Given the description of an element on the screen output the (x, y) to click on. 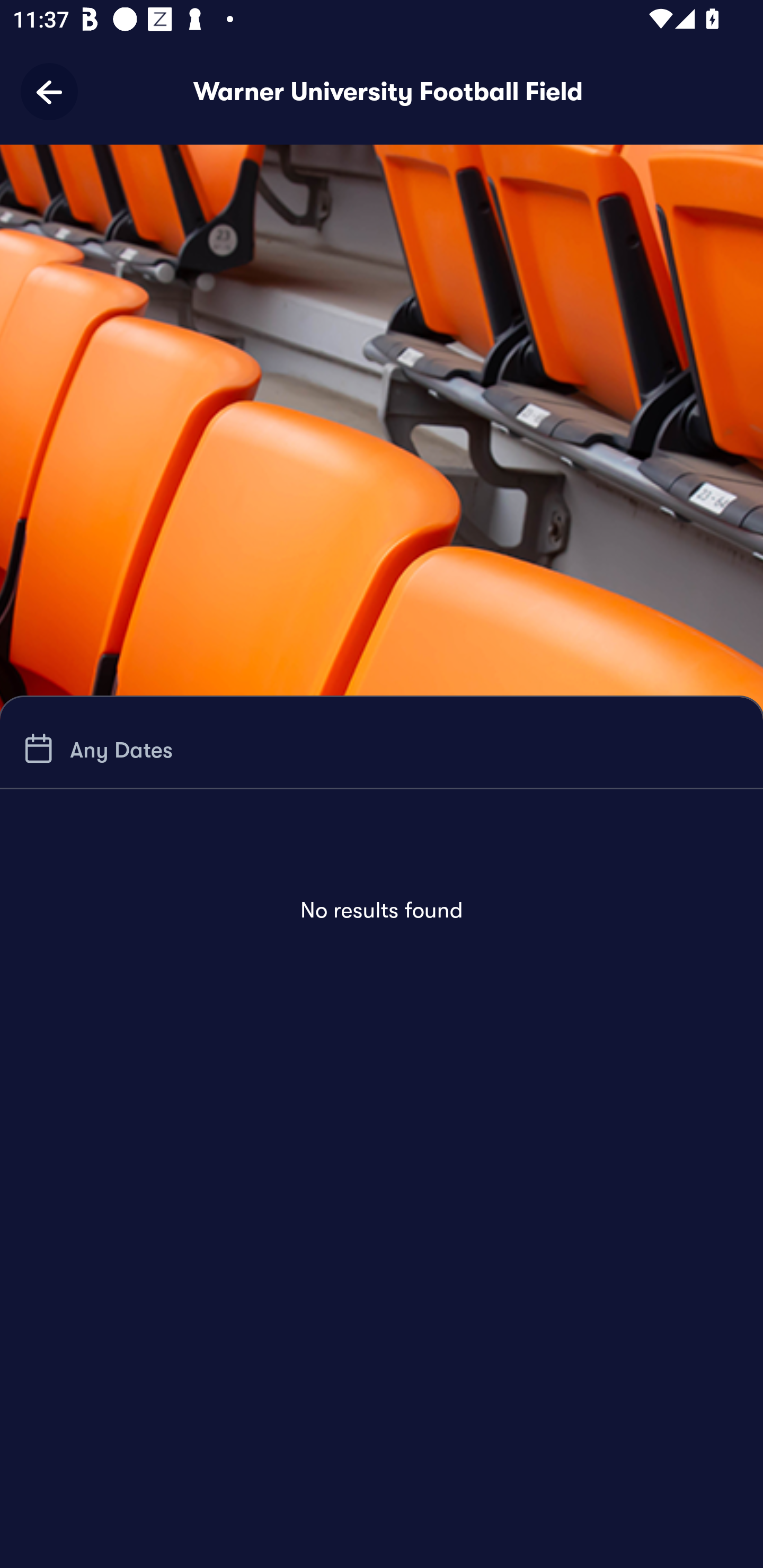
Any Dates (95, 749)
